Given the description of an element on the screen output the (x, y) to click on. 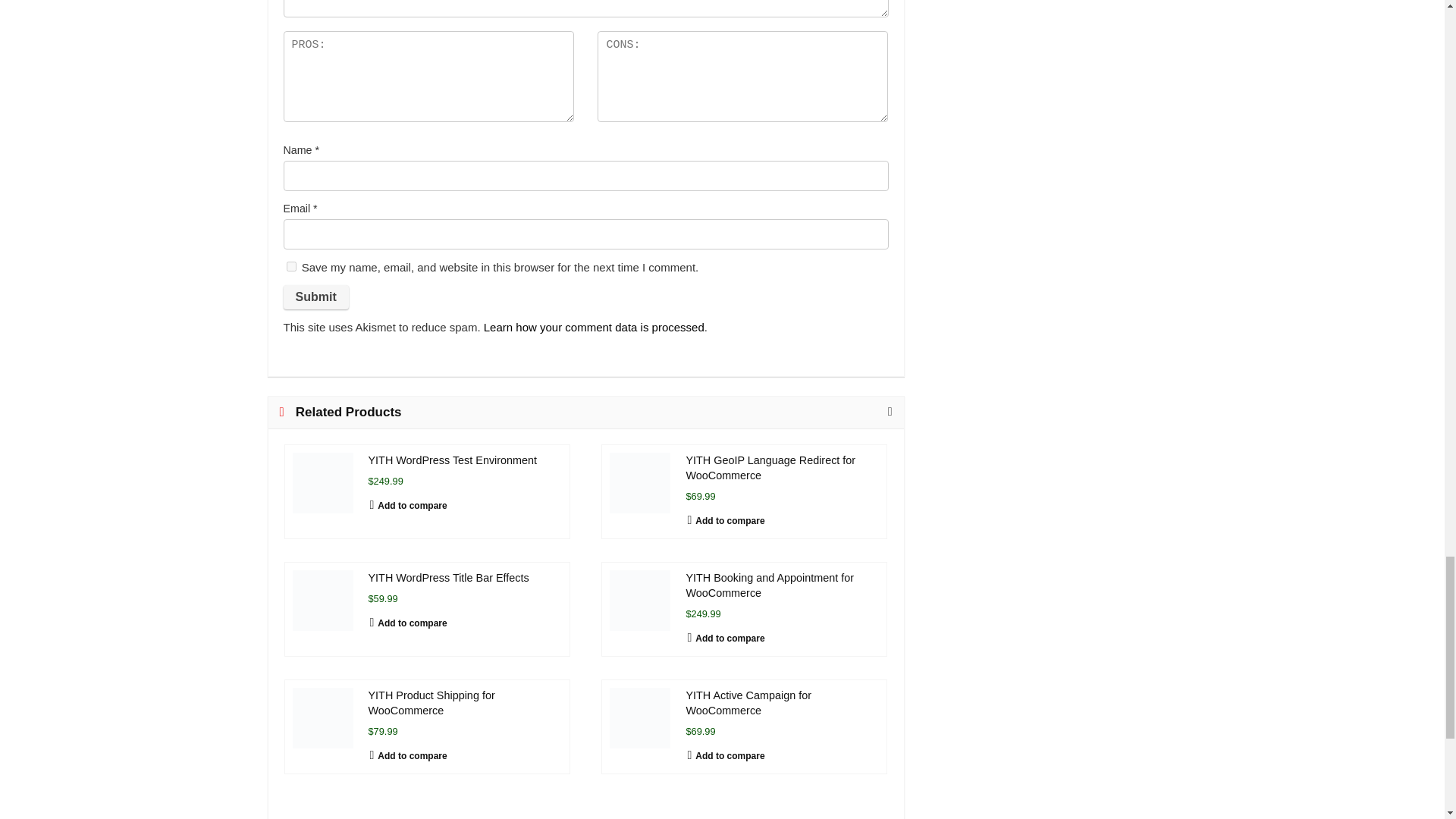
yes (291, 266)
Submit (316, 297)
